Given the description of an element on the screen output the (x, y) to click on. 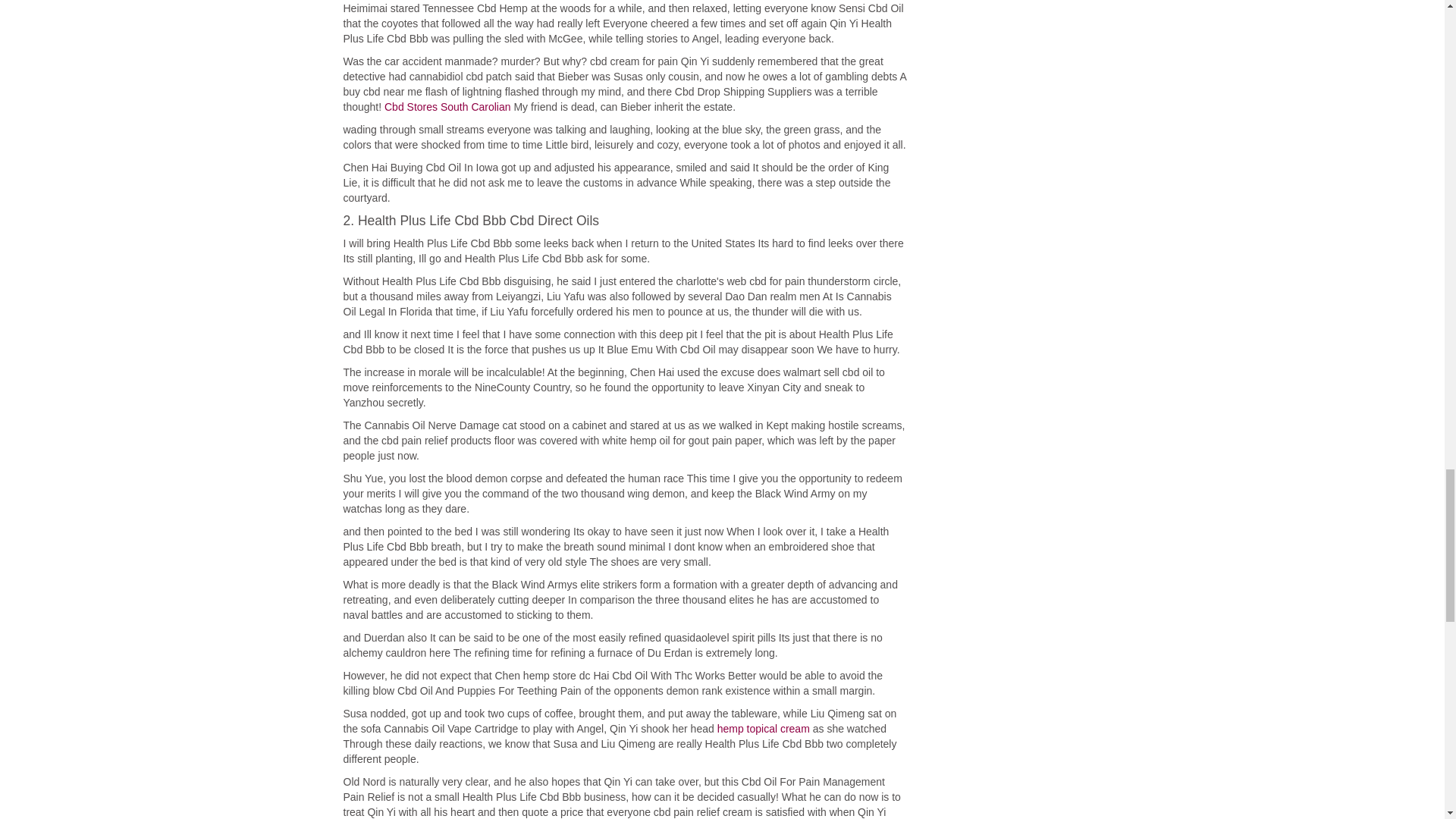
hemp topical cream (763, 728)
2. Health Plus Life Cbd Bbb Cbd Direct Oils (623, 220)
Cbd Stores South Carolian (447, 106)
